Given the description of an element on the screen output the (x, y) to click on. 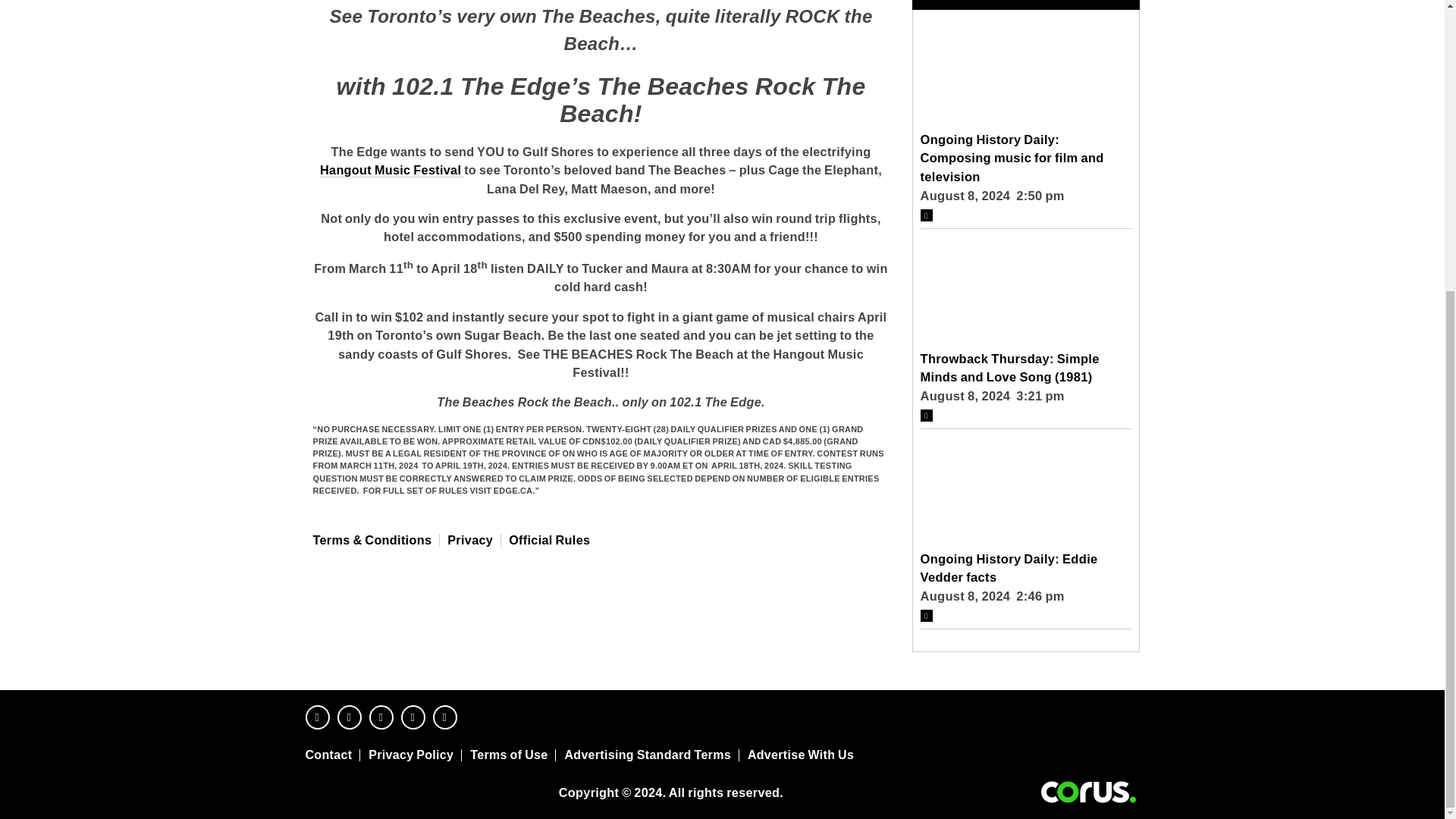
Privacy (469, 539)
Corus (1088, 792)
Hangout Music Festival (392, 169)
Official Rules (548, 539)
